Given the description of an element on the screen output the (x, y) to click on. 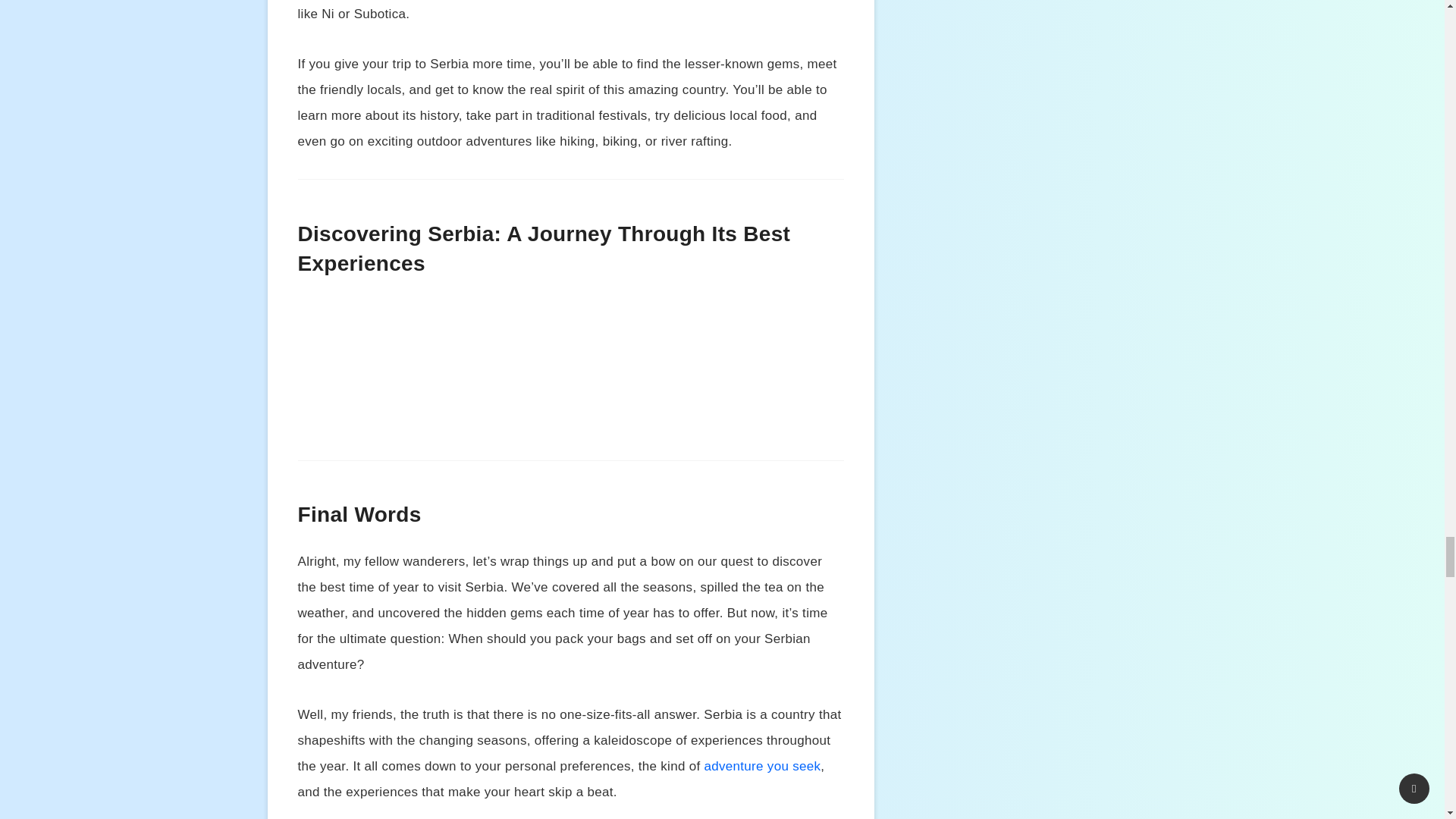
GetYourGuide Widget (570, 372)
